Given the description of an element on the screen output the (x, y) to click on. 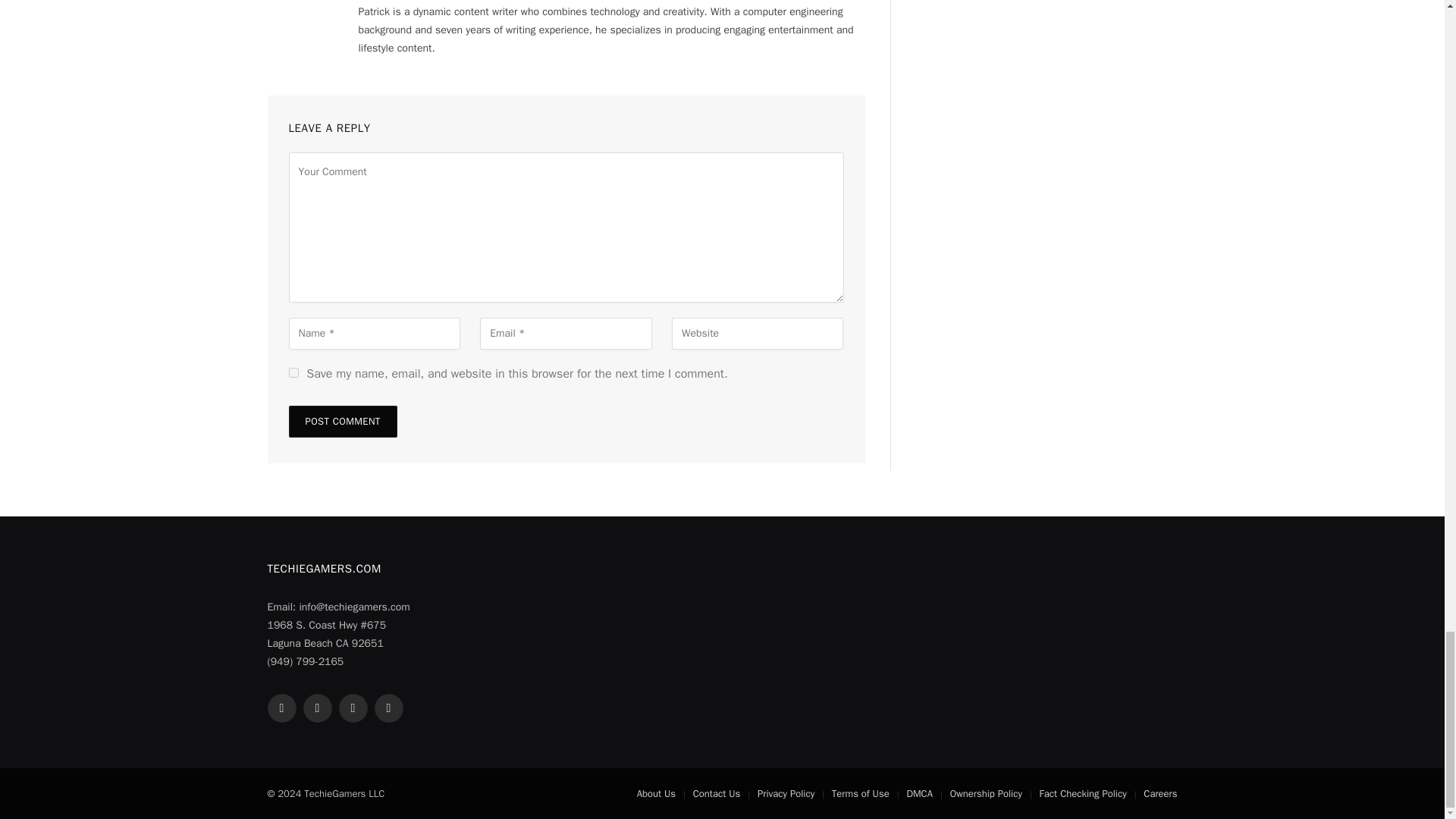
LinkedIn (388, 707)
Terms of Use (860, 793)
Facebook (280, 707)
Post Comment (342, 421)
Ownership Policy (986, 793)
yes (293, 372)
Privacy Policy (785, 793)
Careers (1159, 793)
About Us (656, 793)
Post Comment (342, 421)
